Given the description of an element on the screen output the (x, y) to click on. 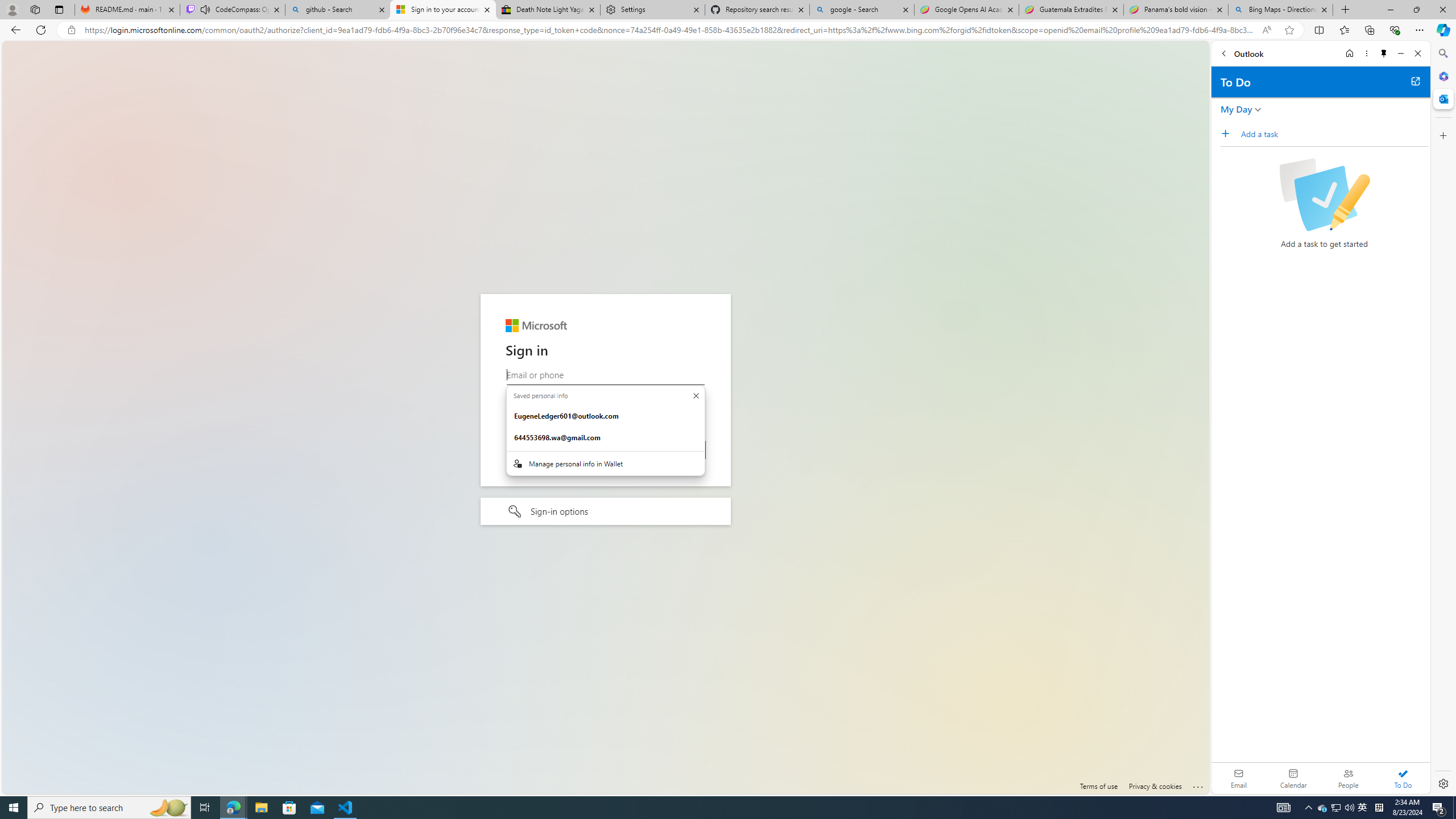
Checkbox with a pencil (1324, 194)
Enter your email or phone (605, 374)
Unpin side pane (1383, 53)
Don't show saved information (696, 395)
Google Opens AI Academy for Startups - Nearshore Americas (966, 9)
People (1347, 777)
